Given the description of an element on the screen output the (x, y) to click on. 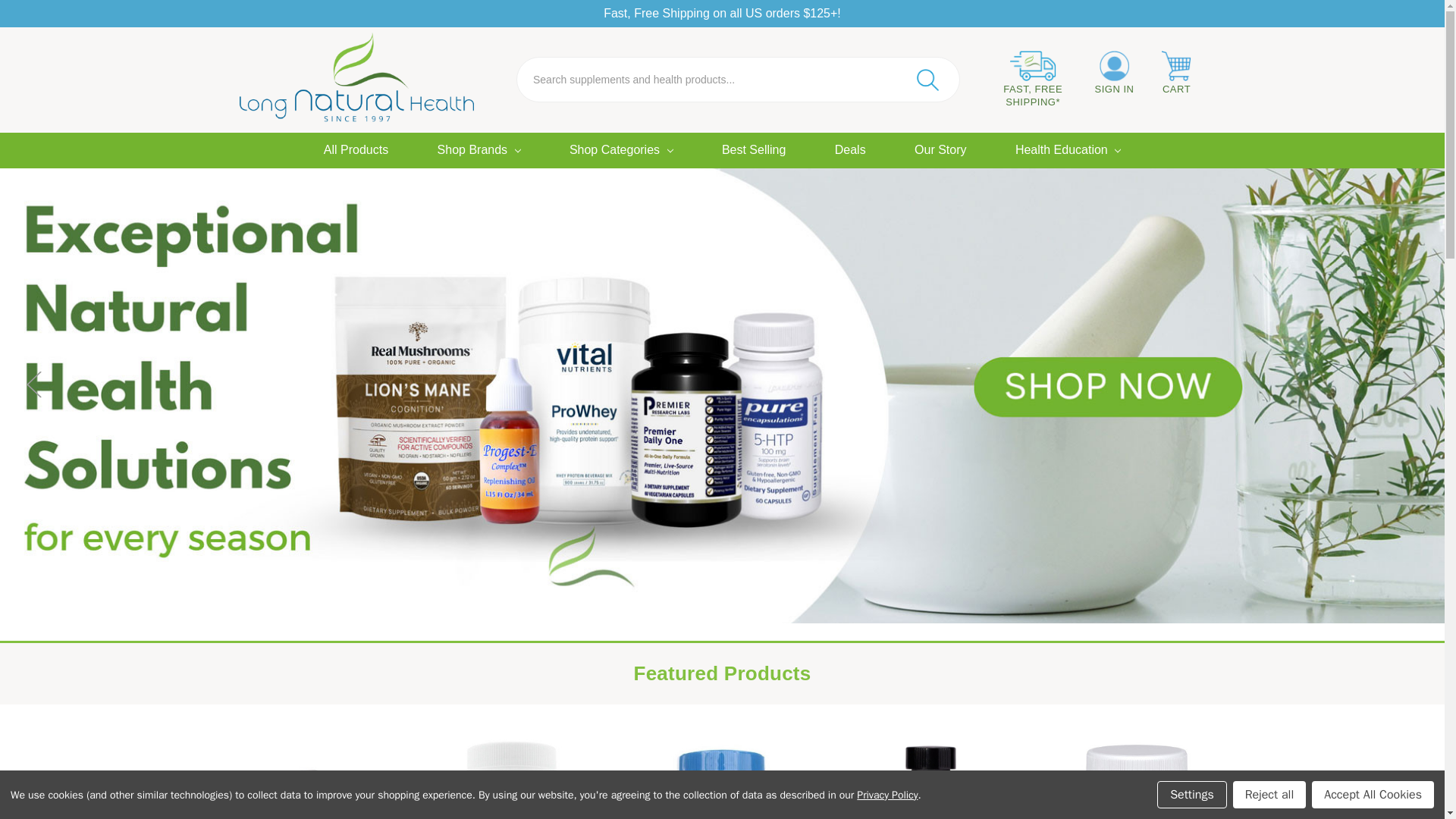
Shop Brands (478, 150)
All Products (356, 150)
Shop Categories (620, 150)
Kenogen Dr. Peat's Progest E Oil Complex, 34 ml   (307, 792)
CART (1176, 73)
NeuroScience TravaCor, 60 or 120 caps  (721, 777)
Pure Encapsulations Digestive Enzymes Ultra, 90 or 180 caps  (1136, 777)
SIGN IN (1113, 73)
